Given the description of an element on the screen output the (x, y) to click on. 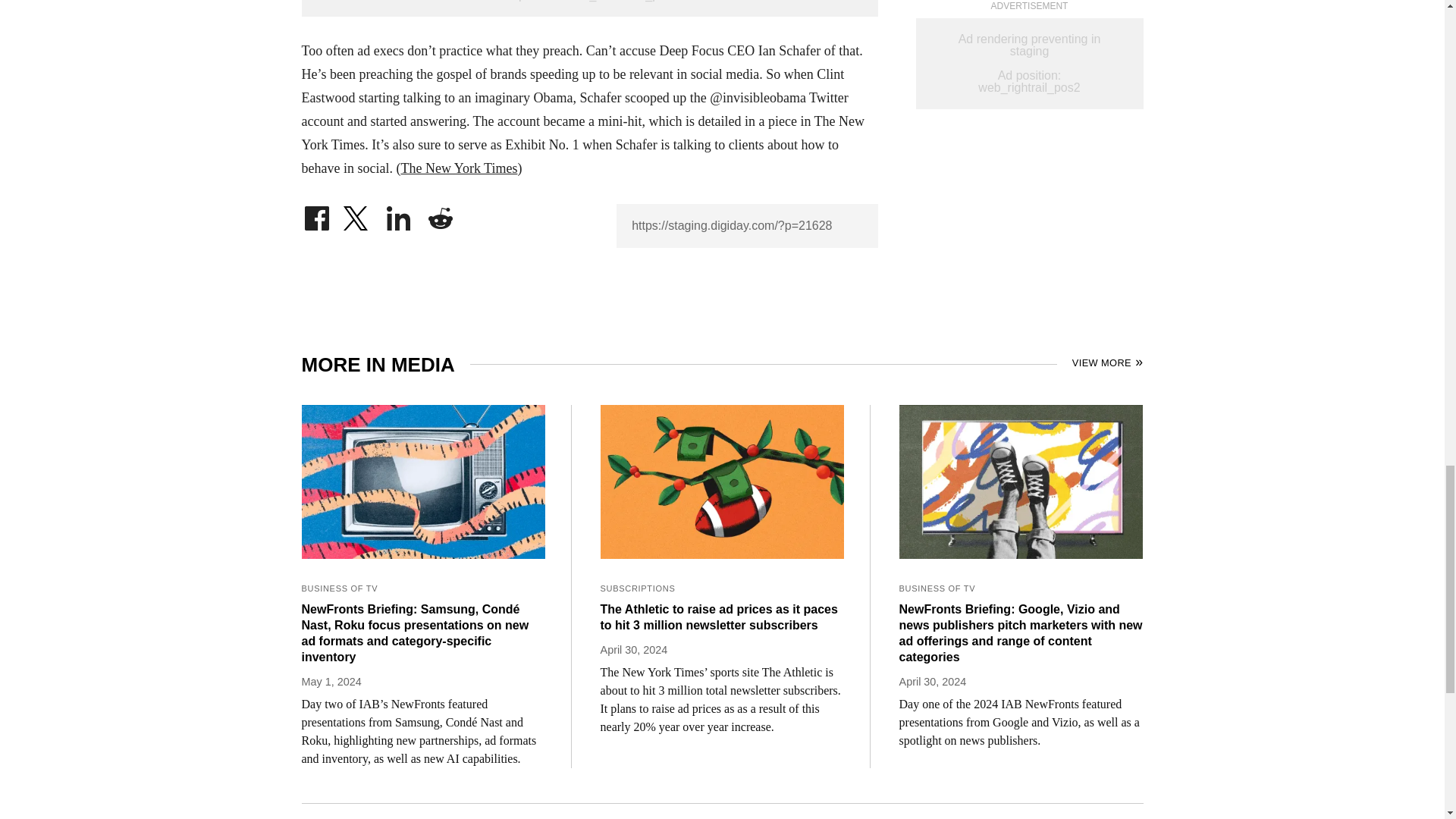
Share on Twitter (357, 214)
Share on Facebook (316, 214)
Share on LinkedIn (398, 214)
Share on Reddit (440, 214)
